Given the description of an element on the screen output the (x, y) to click on. 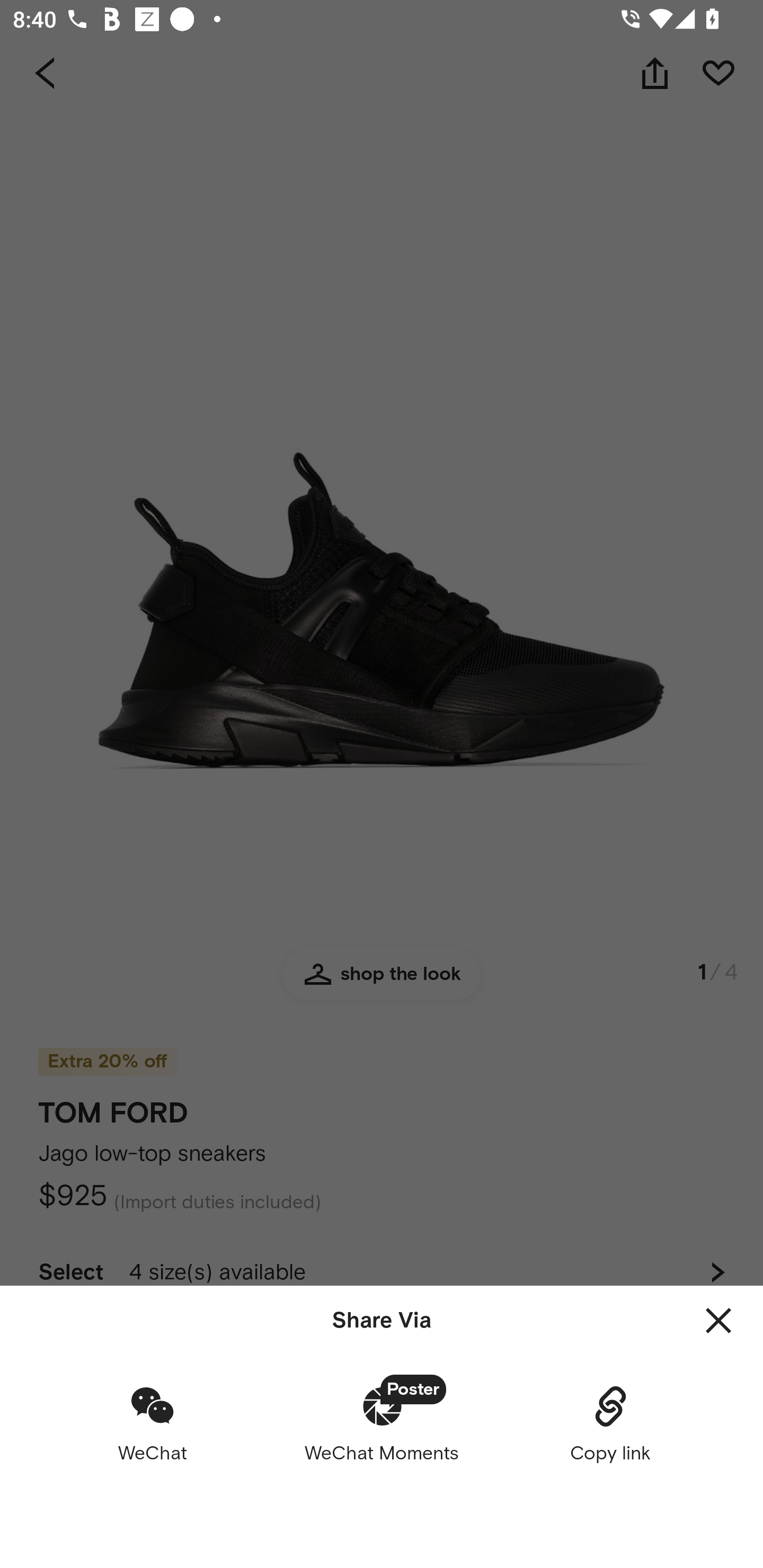
WeChat (152, 1423)
WeChat Moments Poster (381, 1423)
Copy link (609, 1423)
